Given the description of an element on the screen output the (x, y) to click on. 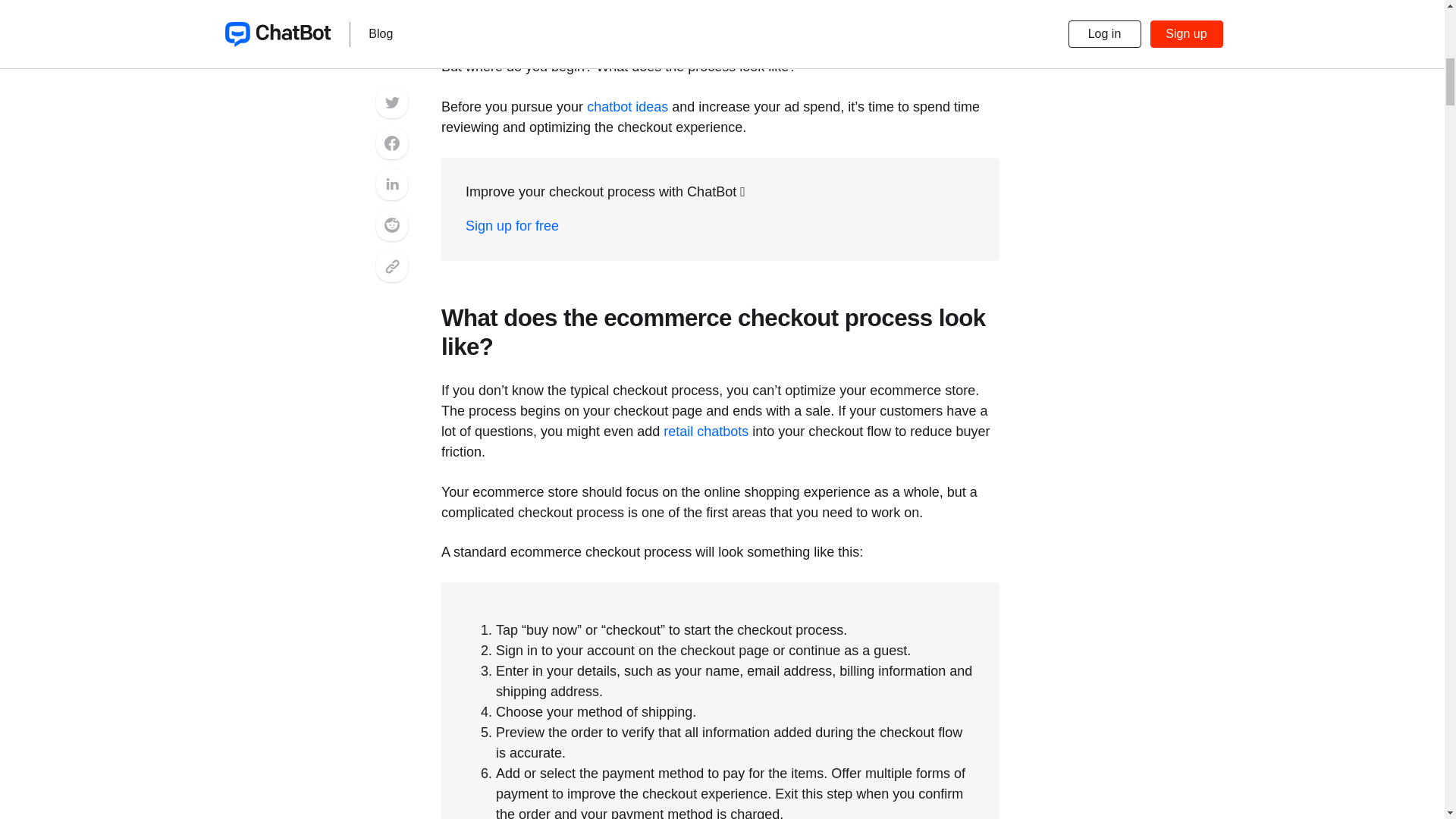
customer satisfaction (689, 17)
retail chatbots (705, 431)
Copy link to clipboard (391, 109)
Post on Reddit (391, 68)
chatbot ideas (627, 106)
Post on LinkedIn (391, 27)
Share on Facebook (391, 1)
Sign up for free (512, 225)
